Given the description of an element on the screen output the (x, y) to click on. 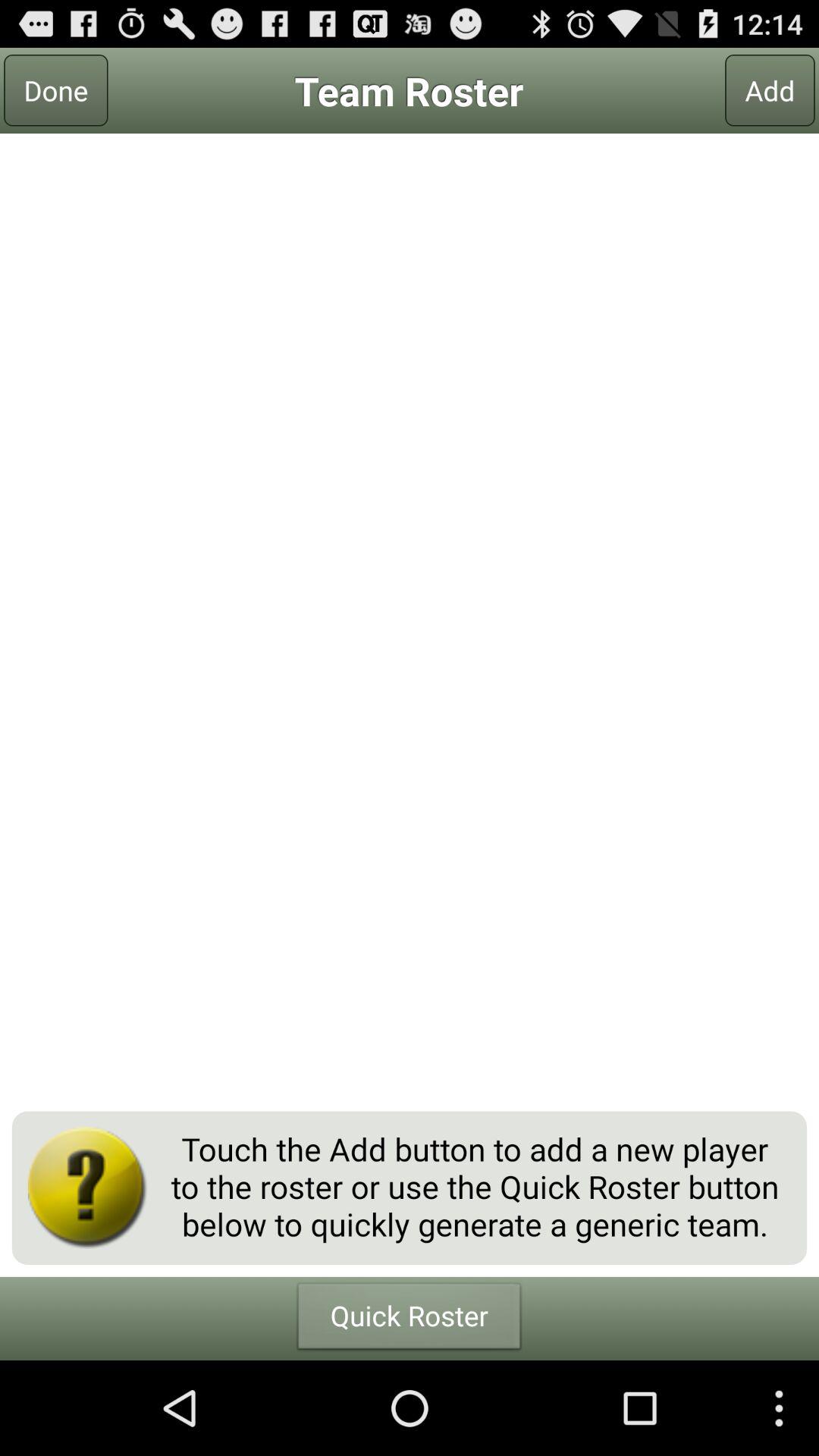
flip to the done icon (55, 90)
